Given the description of an element on the screen output the (x, y) to click on. 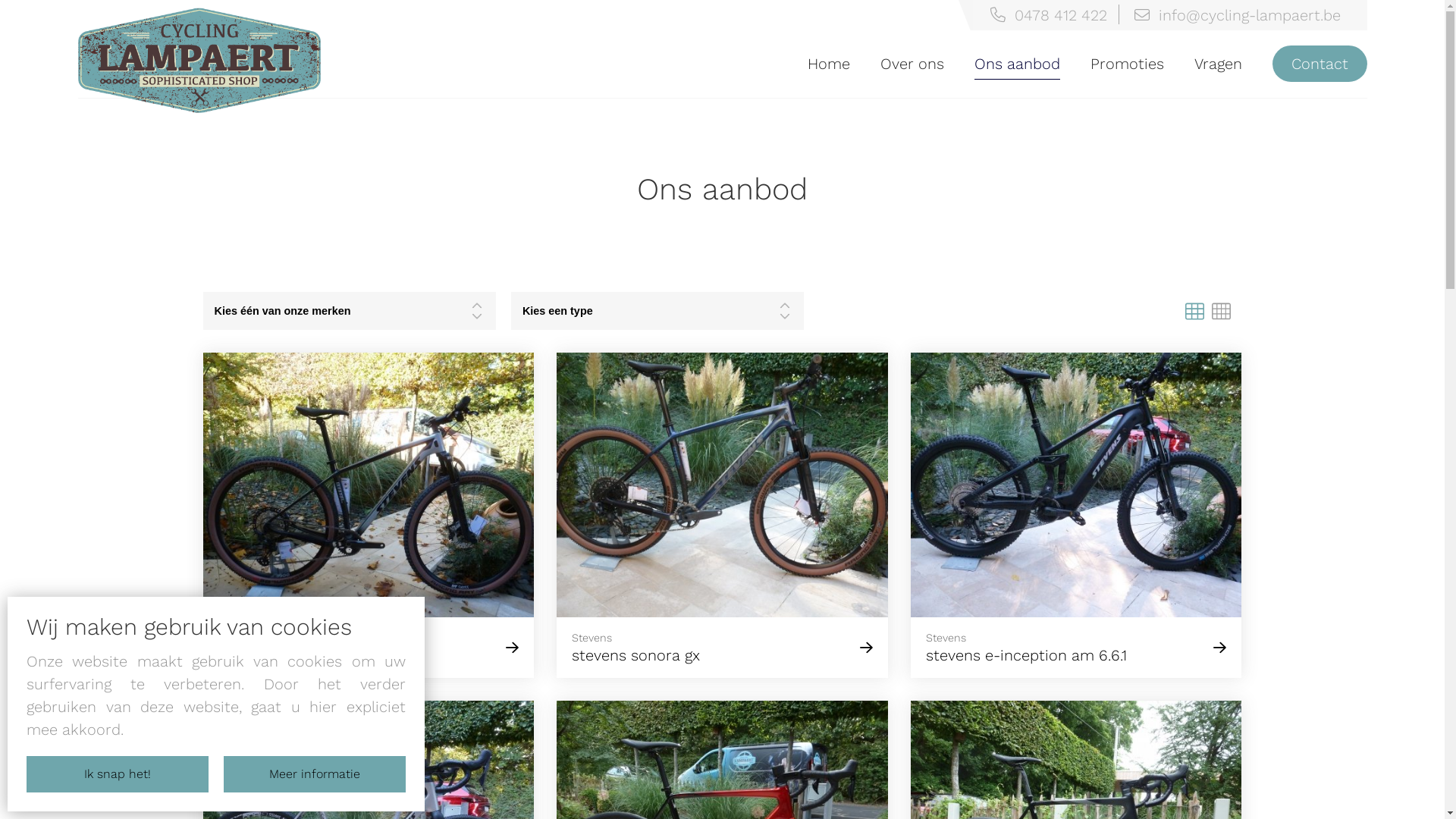
Home Element type: text (827, 63)
Ik snap het! Element type: text (117, 774)
Over ons Element type: text (911, 63)
  0478 412 422 Element type: text (1048, 14)
Meer informatie Element type: text (314, 774)
Vragen Element type: text (1217, 63)
Contact Element type: text (1319, 63)
  info@cycling-lampaert.be Element type: text (1236, 14)
Promoties Element type: text (1127, 63)
Ons aanbod Element type: text (1016, 63)
